Given the description of an element on the screen output the (x, y) to click on. 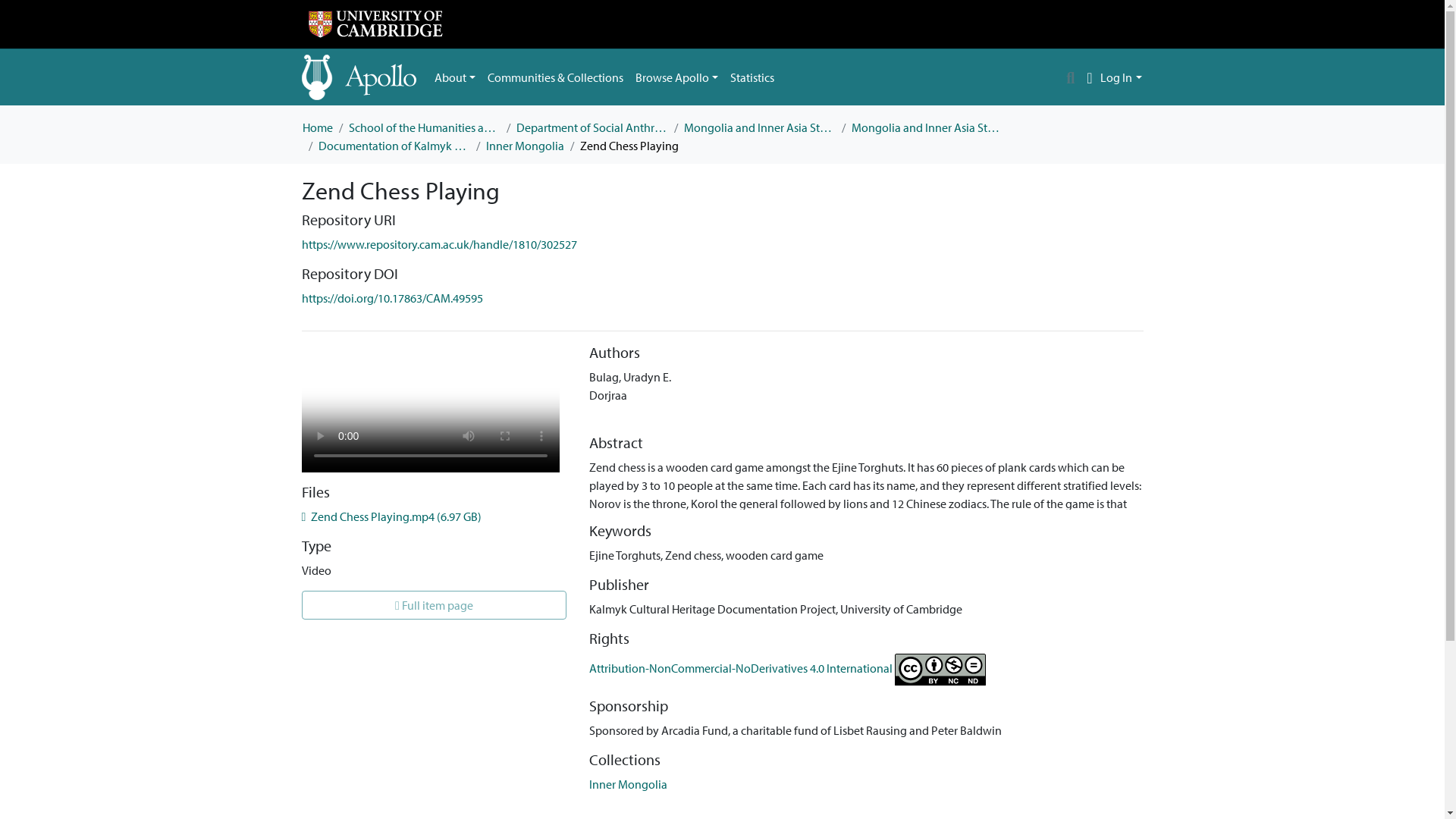
School of the Humanities and Social Sciences (424, 126)
Home (316, 126)
Browse Apollo (675, 77)
Attribution-NonCommercial-NoDerivatives 4.0 International (787, 667)
Language switch (1089, 76)
Mongolia and Inner Asia Studies Unit (759, 126)
Inner Mongolia (523, 145)
Statistics (751, 77)
Log In (1120, 77)
Statistics (751, 77)
Department of Social Anthropology (590, 126)
Inner Mongolia (627, 783)
Search (1070, 76)
Documentation of Kalmyk Cultural Heritage (394, 145)
Full item page (434, 604)
